Given the description of an element on the screen output the (x, y) to click on. 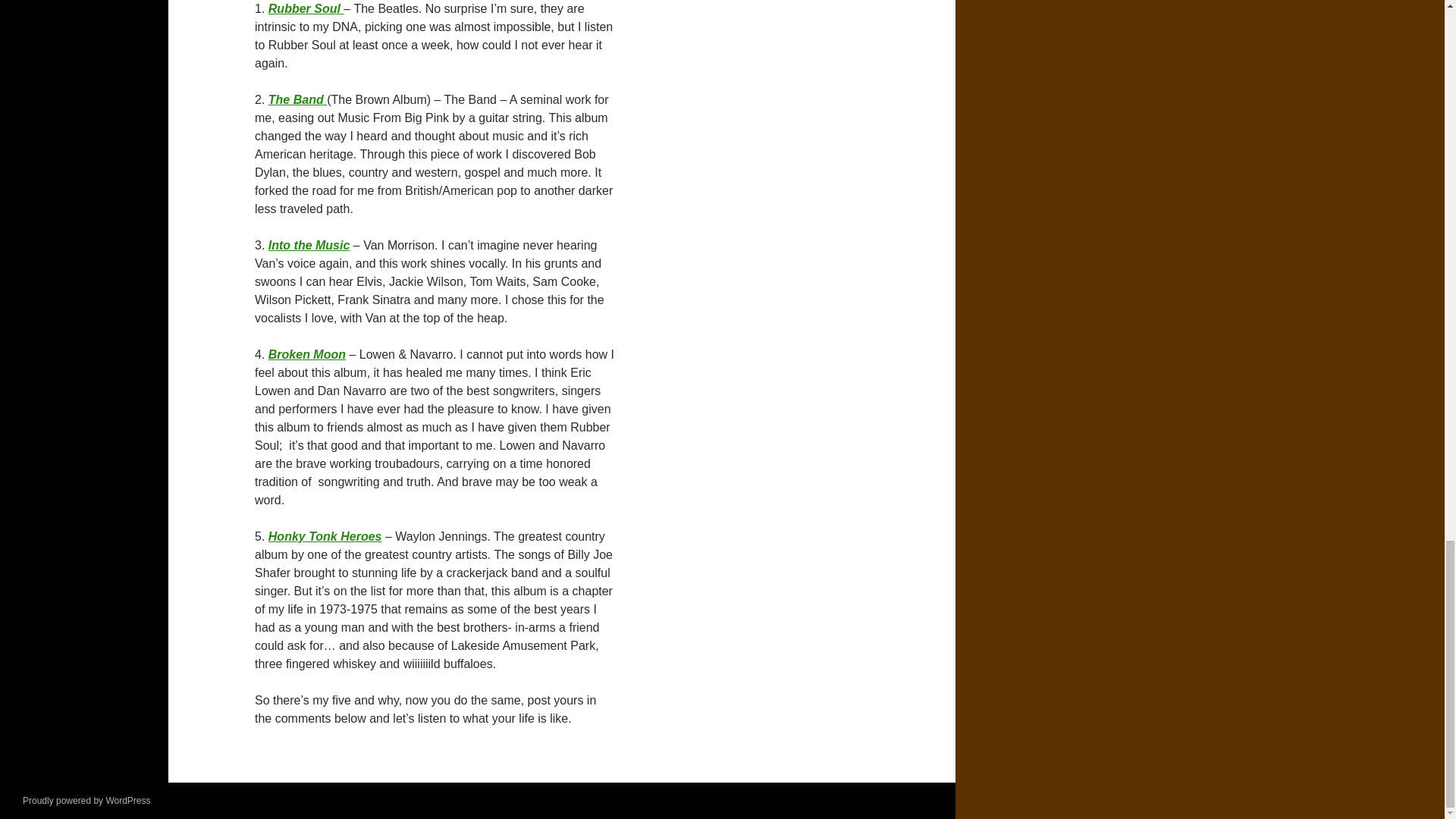
Into the Music (308, 245)
Honky Tonk Heroes (324, 535)
Broken Moon (306, 354)
Rubber Soul (305, 8)
The Band (296, 99)
